Given the description of an element on the screen output the (x, y) to click on. 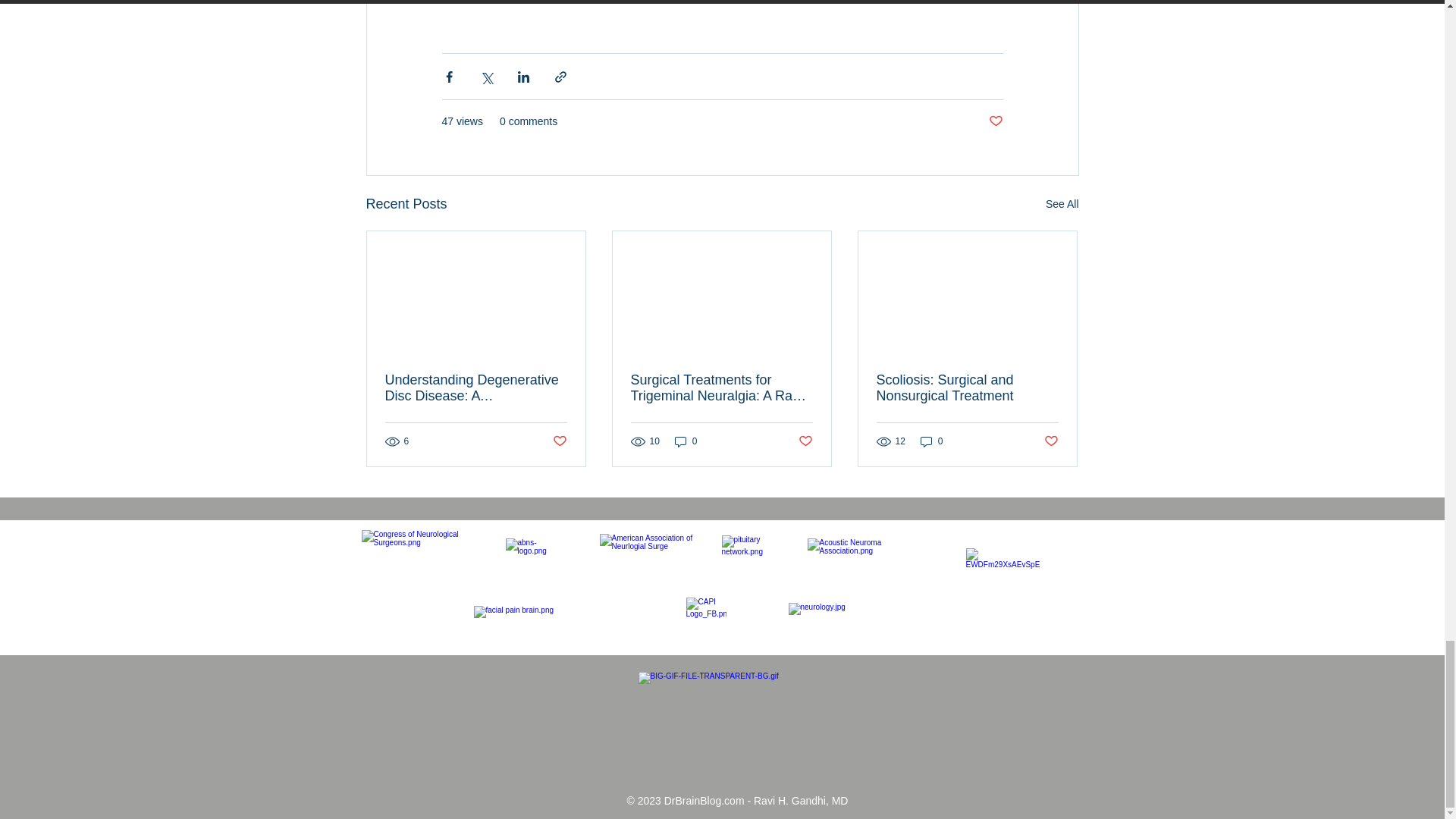
See All (1061, 204)
Post not marked as liked (995, 121)
Post not marked as liked (558, 441)
Post not marked as liked (804, 441)
Post not marked as liked (1050, 441)
0 (685, 441)
Scoliosis: Surgical and Nonsurgical Treatment (967, 388)
0 (931, 441)
Surgical Treatments for Trigeminal Neuralgia: A Ray of Hope (721, 388)
